Given the description of an element on the screen output the (x, y) to click on. 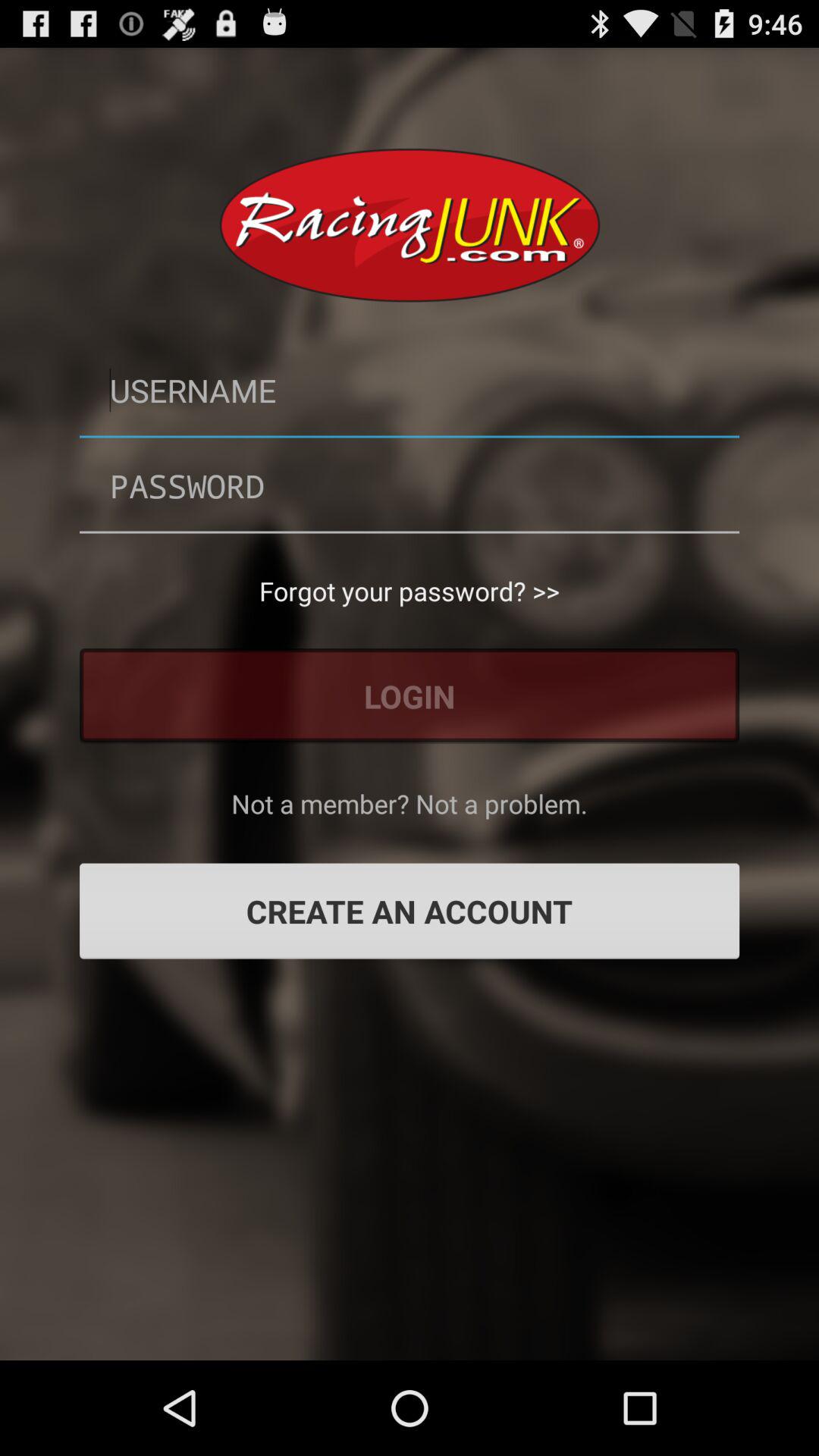
select item below the not a member (409, 910)
